Given the description of an element on the screen output the (x, y) to click on. 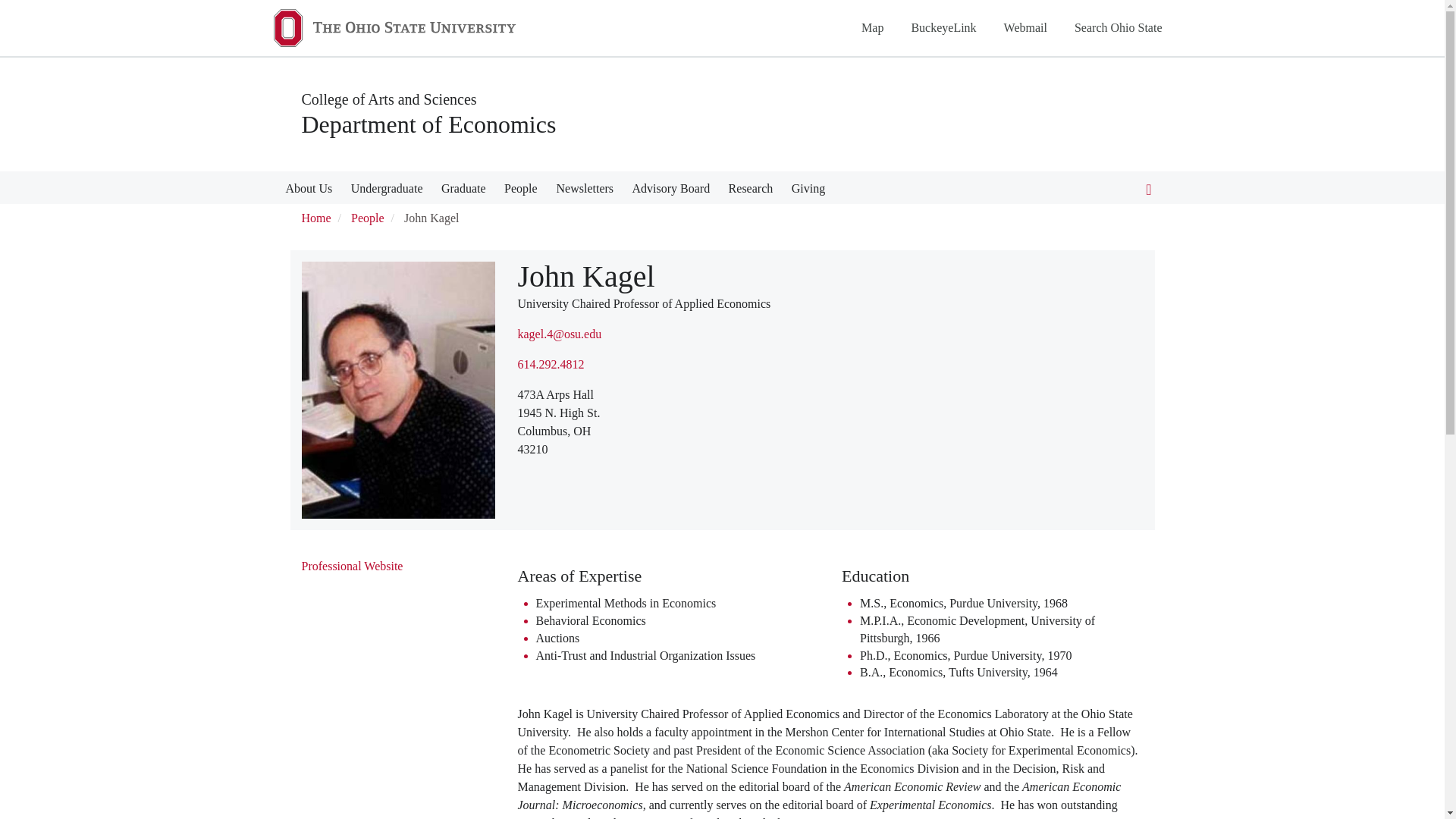
Undergraduate (386, 191)
College of Arts and Sciences (389, 98)
Graduate Programs (463, 191)
Webmail (1025, 27)
About Us (308, 191)
Search Ohio State (1117, 27)
About Us (308, 191)
BuckeyeLink (943, 27)
Undergraduate Programs (386, 191)
Department of Economics (428, 124)
